Given the description of an element on the screen output the (x, y) to click on. 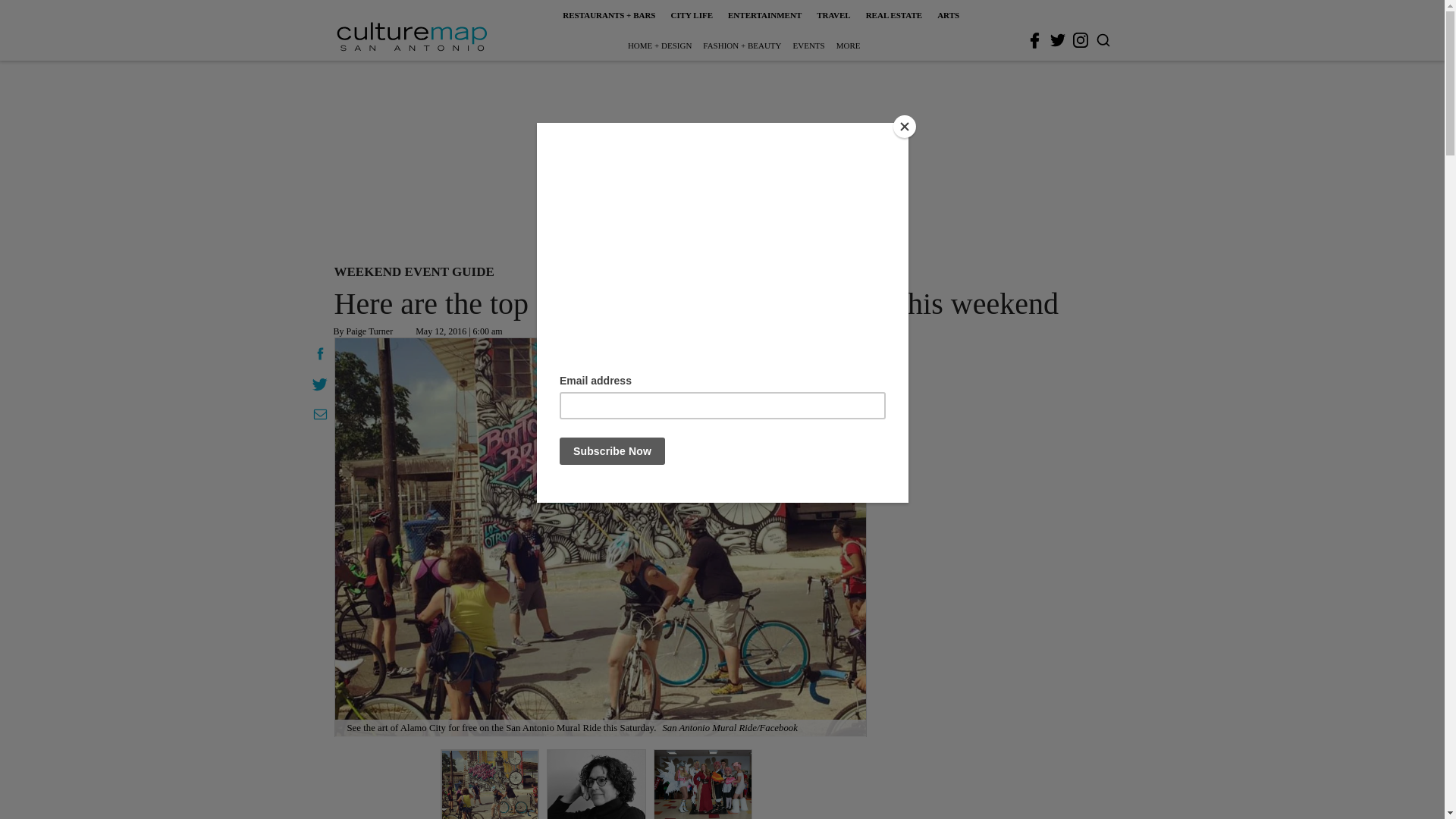
3rd party ad content (721, 160)
